Given the description of an element on the screen output the (x, y) to click on. 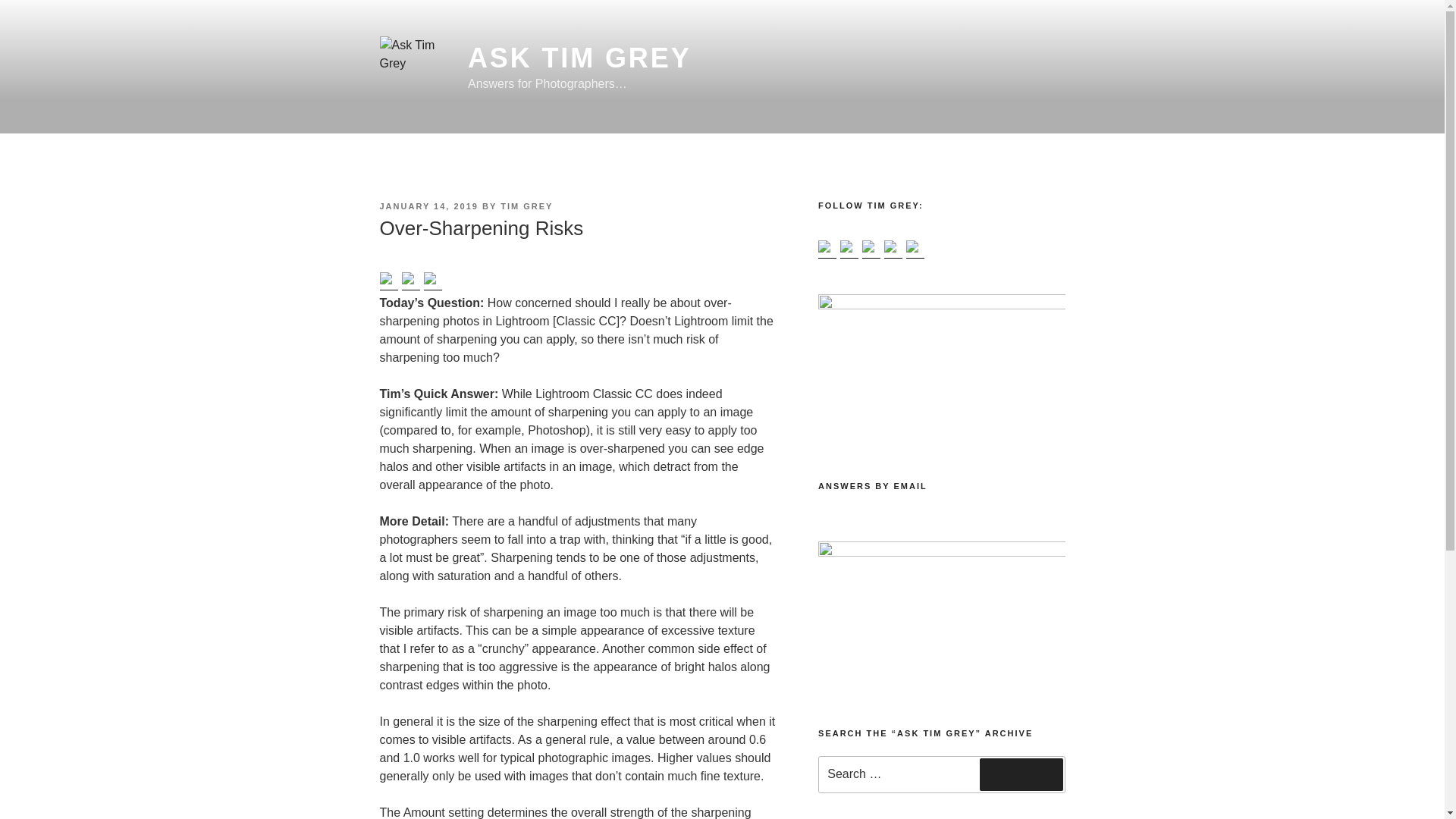
Share on Twitter (410, 280)
Follow Tim Grey on Instagram (914, 249)
Share on Facebook (387, 280)
Follow Tim Grey on Facebook (823, 246)
Follow Tim Grey on Facebook (826, 249)
Connect with Tim Grey on LinkedIn (870, 249)
TIM GREY (526, 205)
Follow Tim Grey on Twitter (845, 246)
Search (1020, 774)
Share on Twitter (407, 277)
ASK TIM GREY (579, 57)
Connect with Tim Grey on LinkedIn (868, 246)
Follow Tim Grey TV on YouTube (889, 246)
Share on Linkedin (432, 280)
Share on Facebook (384, 277)
